Given the description of an element on the screen output the (x, y) to click on. 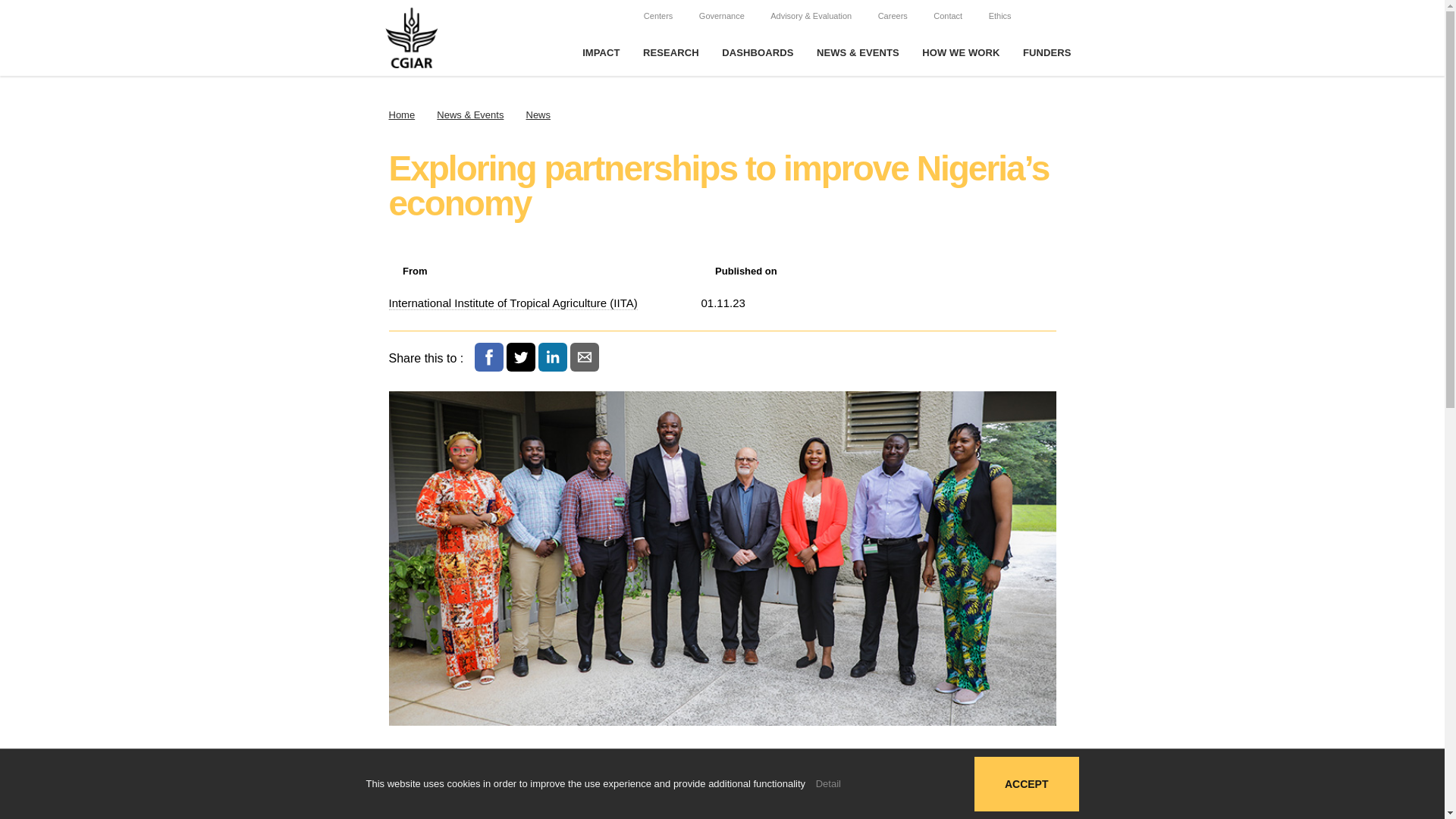
RESEARCH (670, 53)
